Given the description of an element on the screen output the (x, y) to click on. 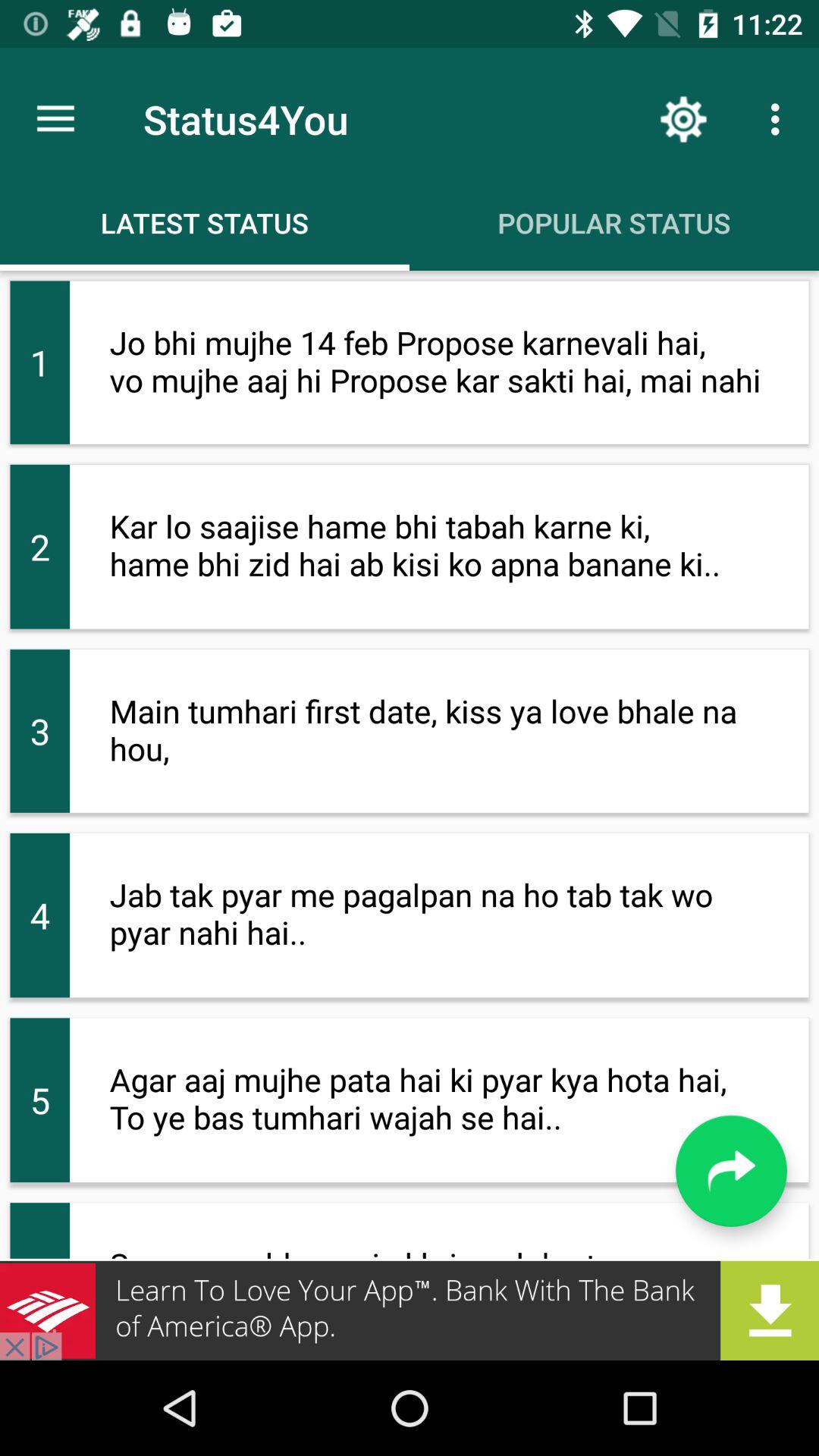
go back (731, 1170)
